Given the description of an element on the screen output the (x, y) to click on. 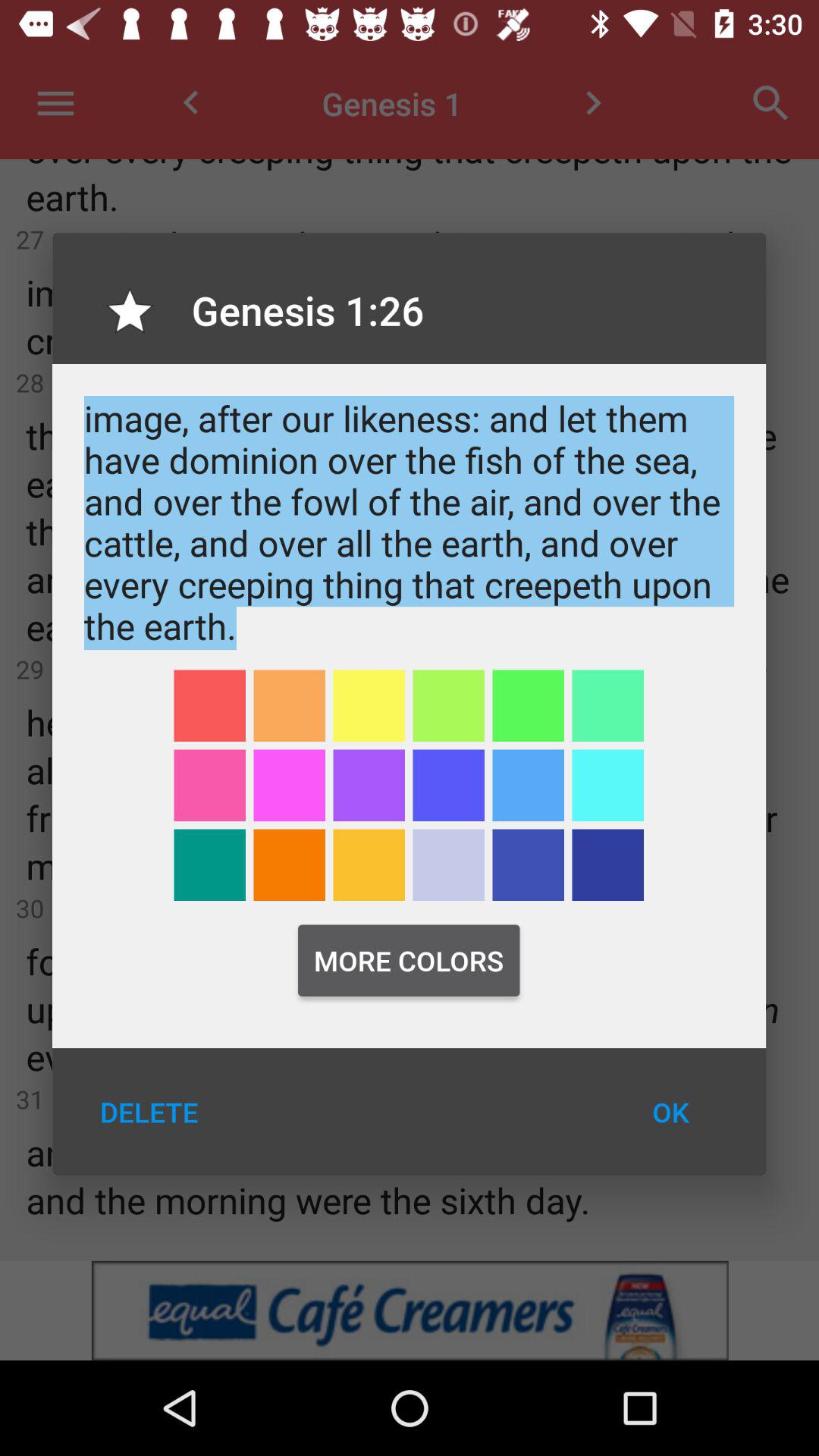
tap item above ok (607, 864)
